Given the description of an element on the screen output the (x, y) to click on. 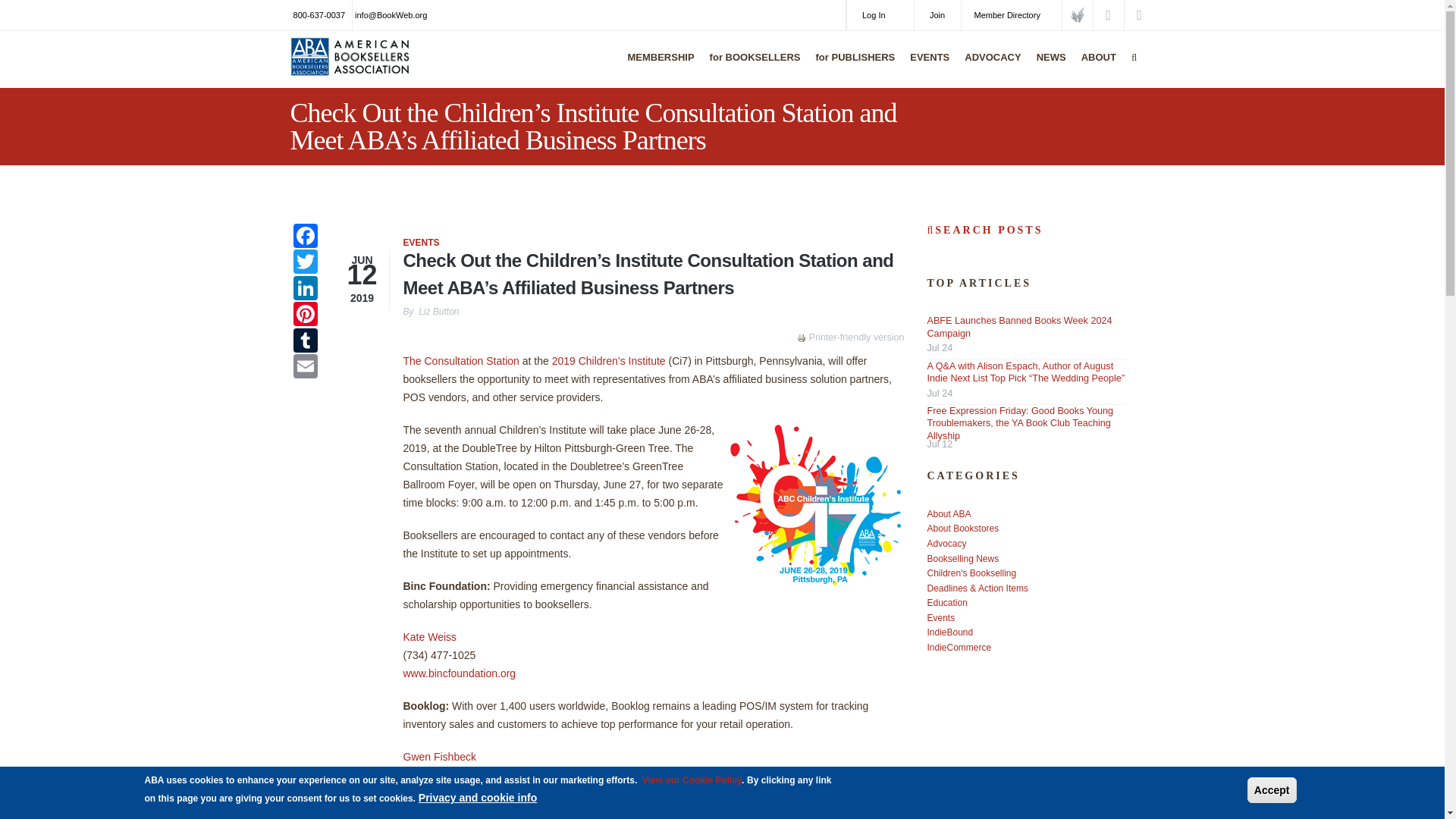
for BOOKSELLERS (751, 66)
Log In (880, 15)
EVENTS (925, 66)
MEMBERSHIP (656, 66)
Display a printer-friendly version of this page. (850, 337)
Privacy and cookie info (478, 797)
Join (937, 15)
ABOUT (1094, 66)
for PUBLISHERS (852, 66)
NEWS (1047, 66)
Accept (1272, 790)
for BOOKSELLERS (751, 66)
Member Directory (1010, 15)
ADVOCACY (989, 66)
